Given the description of an element on the screen output the (x, y) to click on. 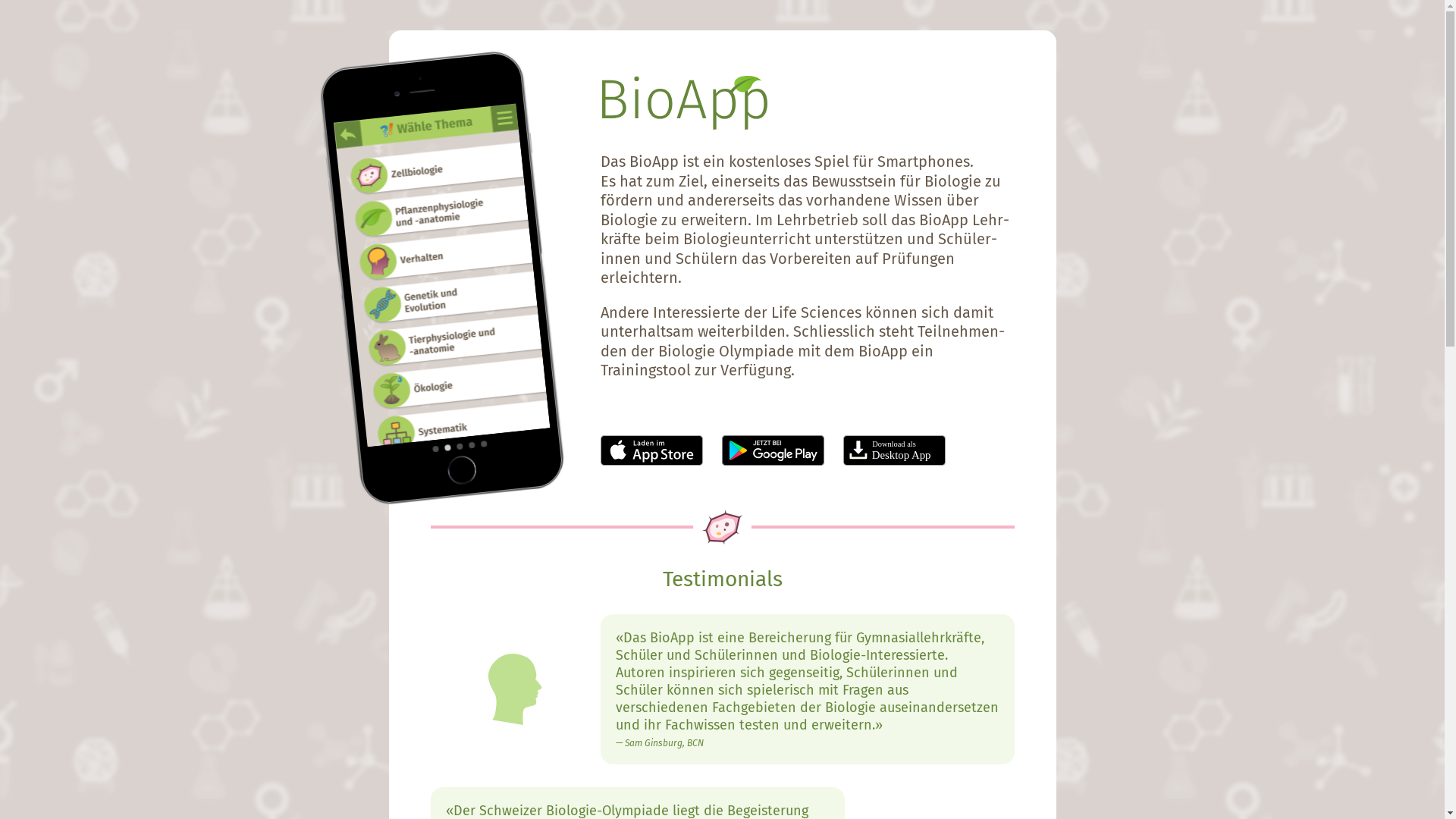
Download als Desktop App Element type: hover (894, 450)
Jetzt bei GooglePlay Element type: hover (772, 450)
Laden im AppStore Element type: hover (651, 450)
